Given the description of an element on the screen output the (x, y) to click on. 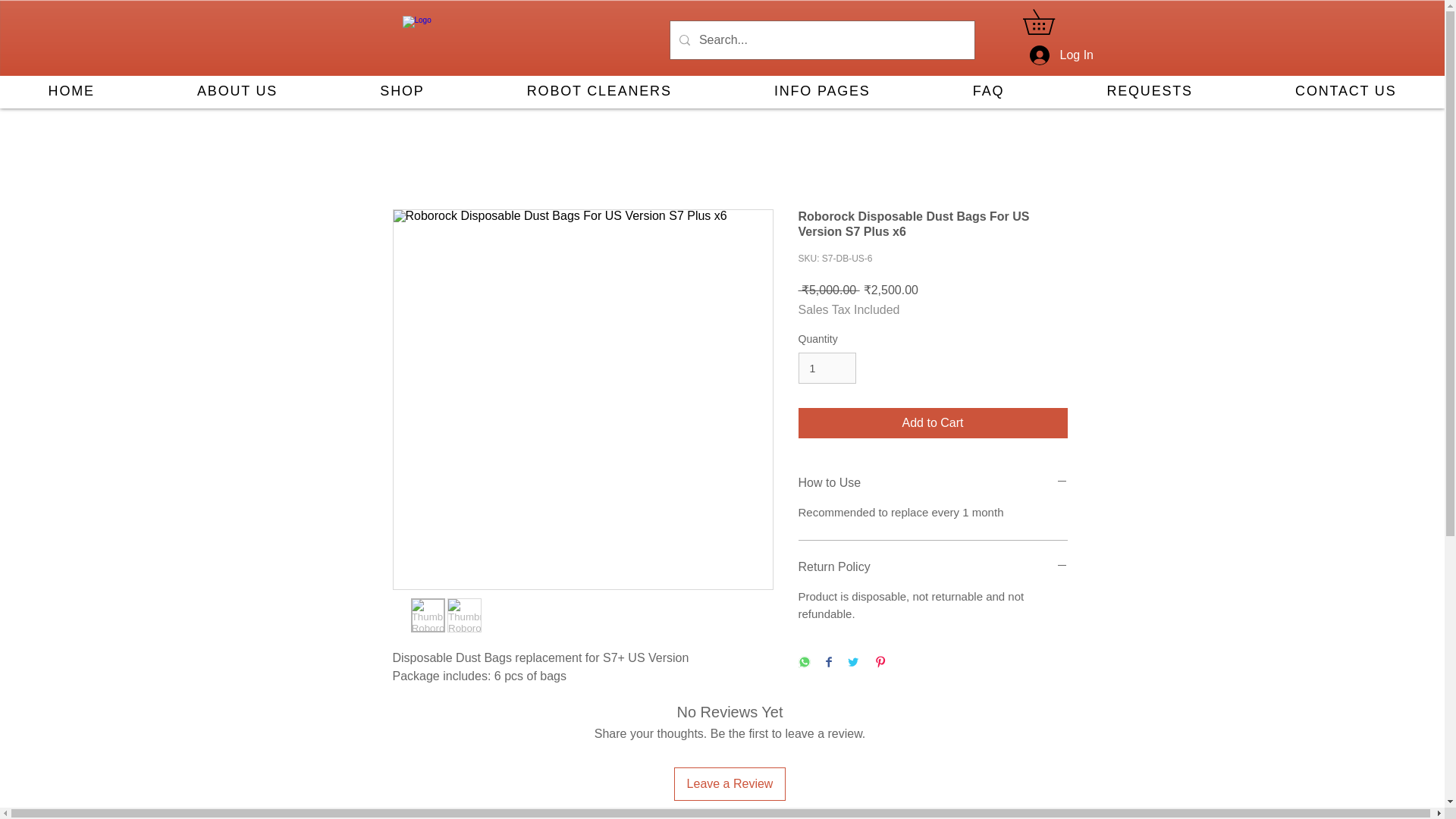
Add to Cart (932, 422)
How to Use (932, 483)
1 (826, 368)
Leave a Review (730, 783)
Return Policy (932, 566)
REQUESTS (1149, 92)
HOME (71, 92)
ABOUT US (236, 92)
CONTACT US (1345, 92)
FAQ (988, 92)
ROBOT CLEANERS (599, 92)
SHOP (401, 92)
Log In (1048, 54)
